Given the description of an element on the screen output the (x, y) to click on. 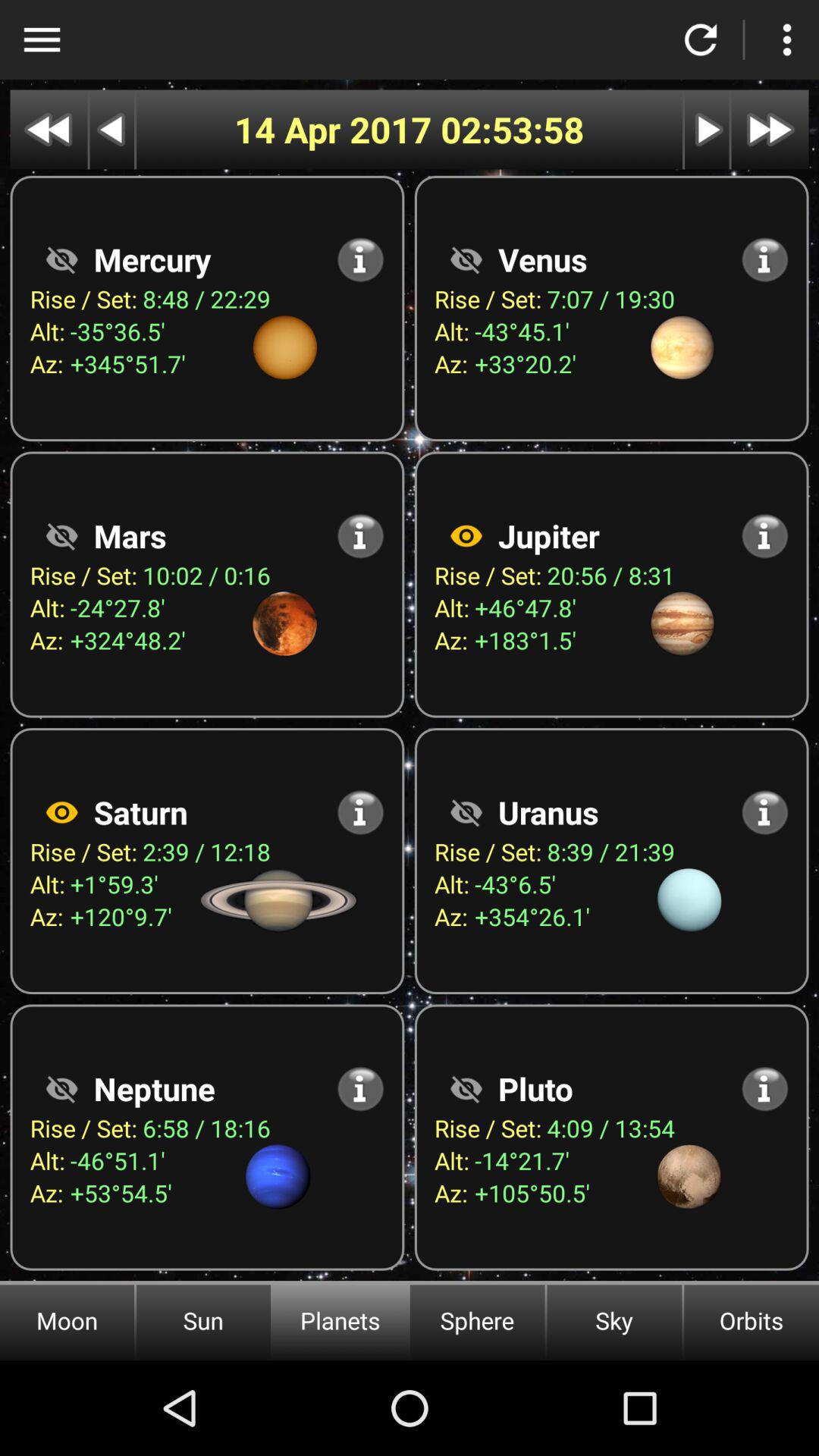
go back (111, 129)
